Given the description of an element on the screen output the (x, y) to click on. 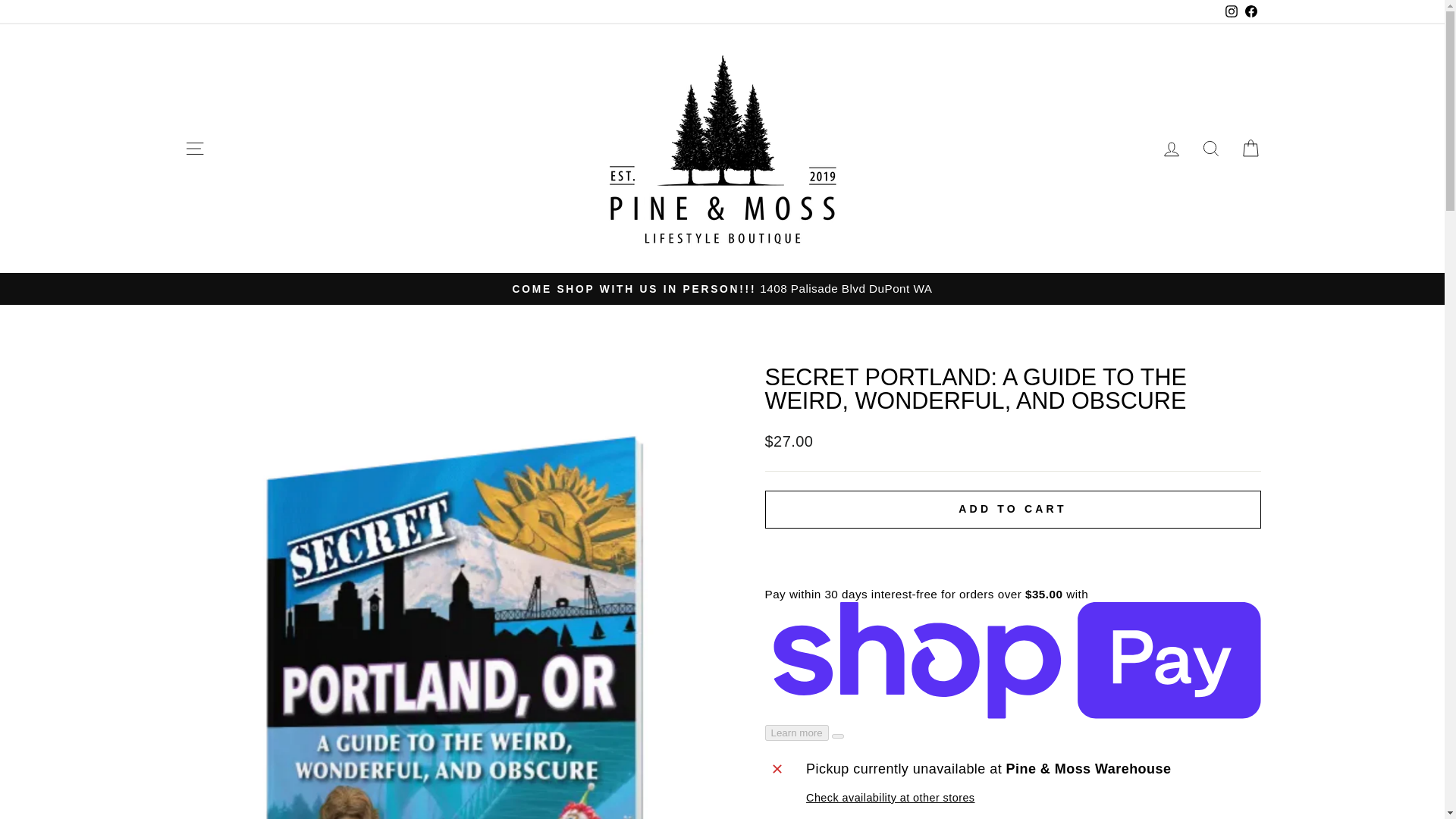
instagram (1231, 10)
ACCOUNT (1170, 148)
ICON-HAMBURGER (194, 148)
ICON-SEARCH (1210, 148)
